Given the description of an element on the screen output the (x, y) to click on. 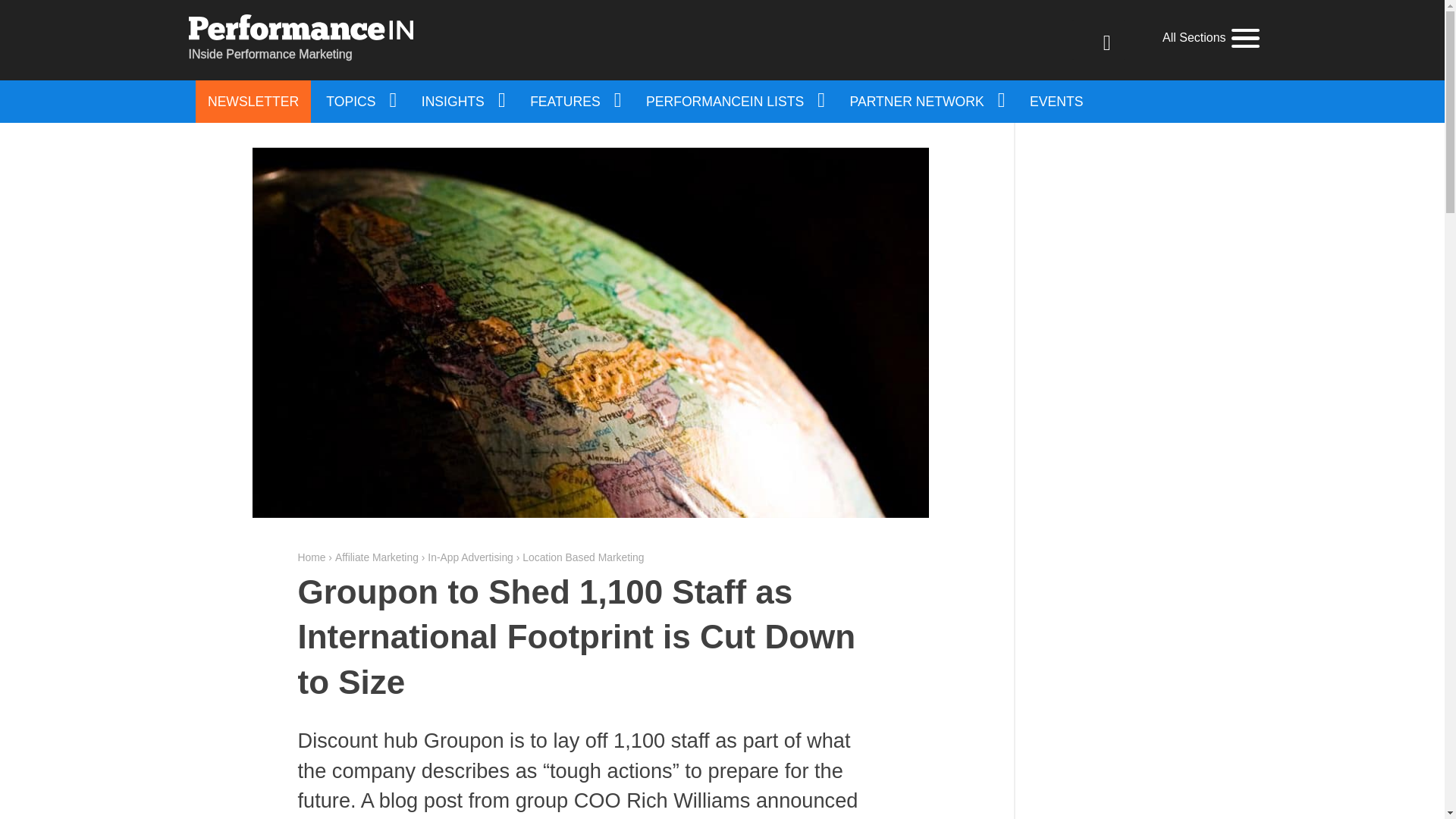
FEATURES (574, 101)
TOPICS (360, 101)
INSIGHTS (462, 101)
PARTNER NETWORK (926, 101)
EVENTS (1055, 101)
All Sections (1210, 38)
PERFORMANCEIN LISTS (733, 101)
INside Performance Marketing (299, 38)
NEWSLETTER (253, 101)
